Given the description of an element on the screen output the (x, y) to click on. 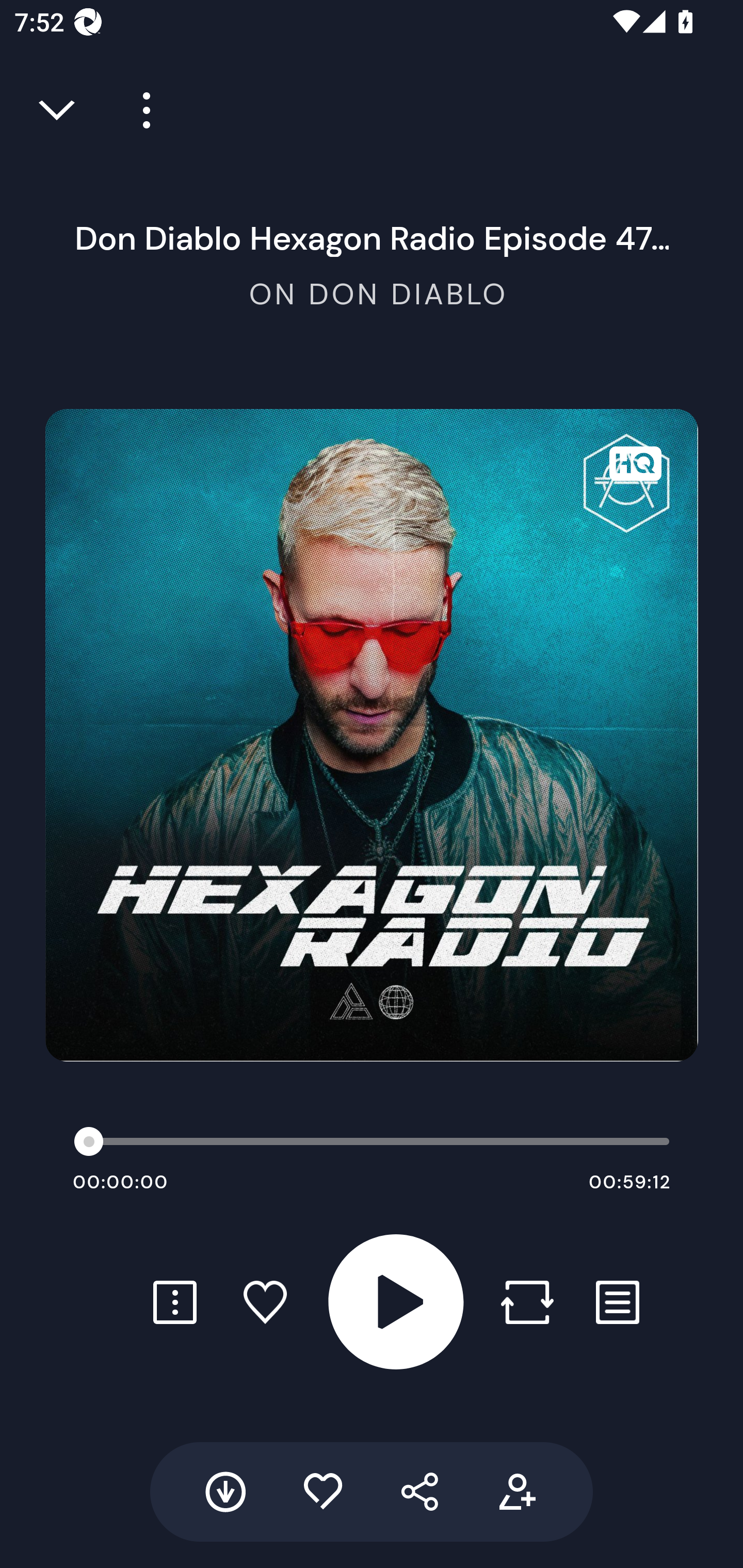
Close full player (58, 110)
Player more options button (139, 110)
Repost button (527, 1301)
